Given the description of an element on the screen output the (x, y) to click on. 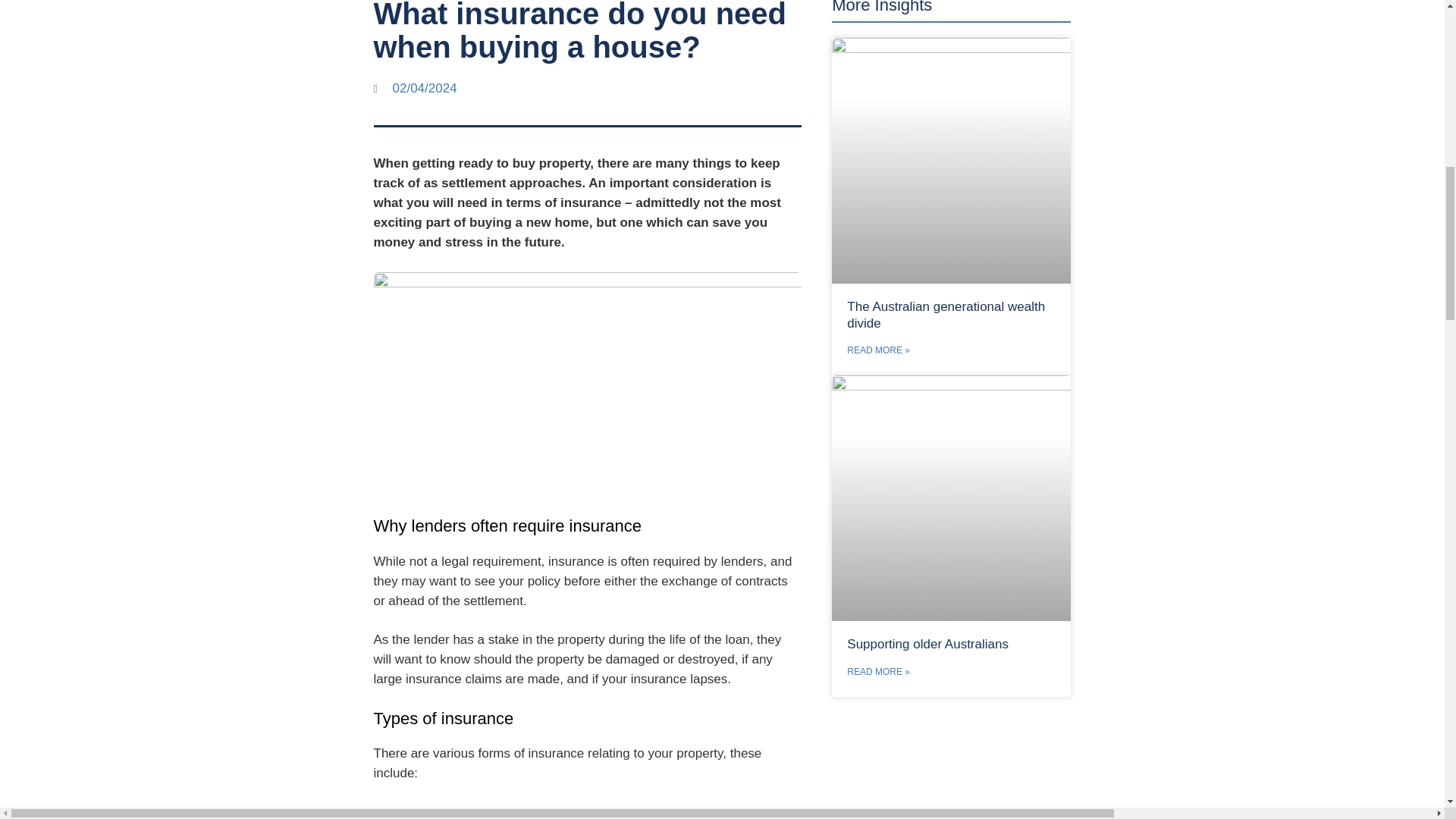
Supporting older Australians (928, 644)
The Australian generational wealth divide (946, 314)
